Given the description of an element on the screen output the (x, y) to click on. 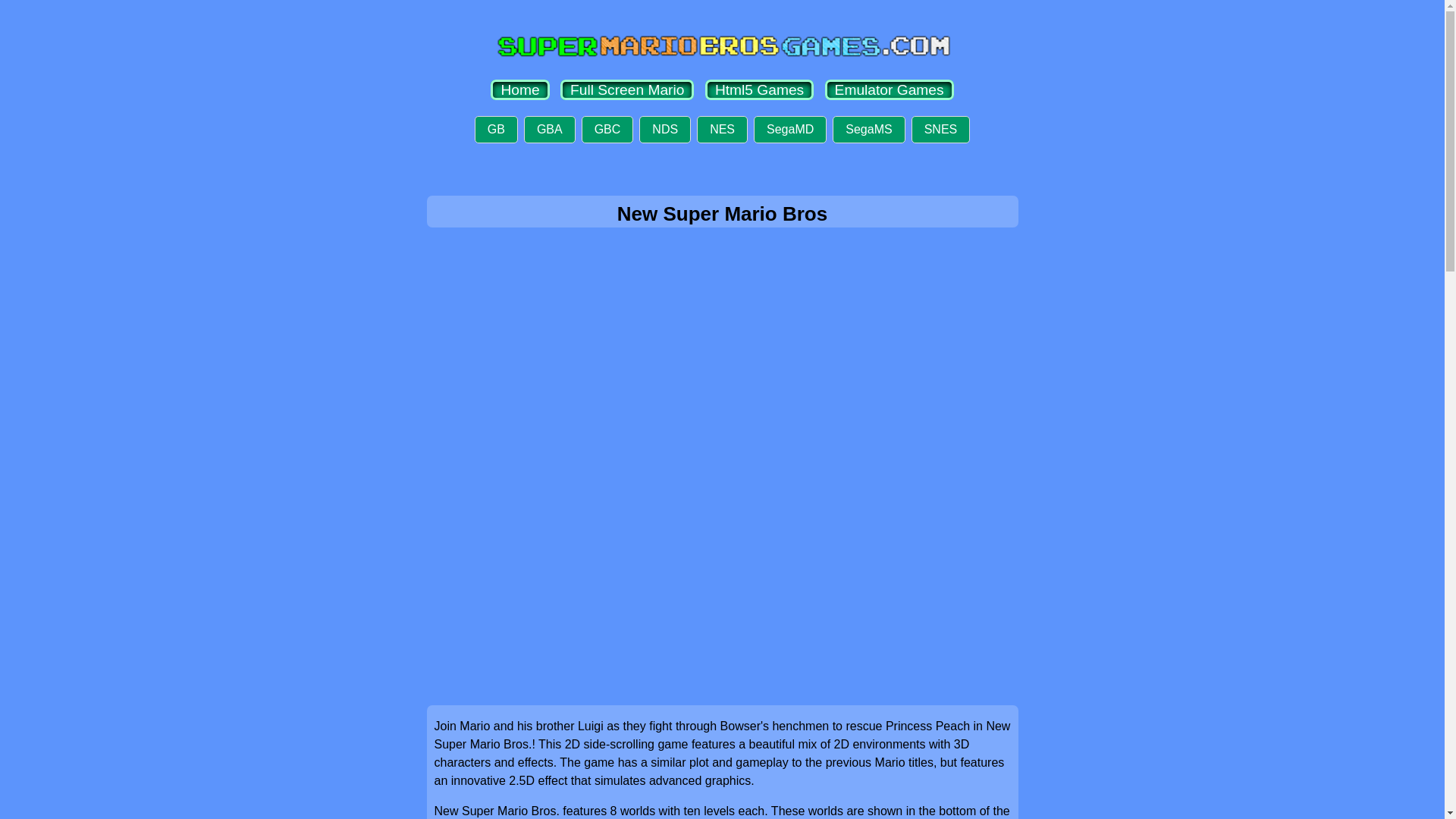
SegaMS (868, 129)
GBA (549, 129)
play super mario bros in full screen (627, 89)
play html5 mario games online (758, 89)
Emulator Games (889, 89)
SegaMD (790, 129)
super mario bros games homepage (519, 89)
NES (722, 129)
SNES (941, 129)
NDS (664, 129)
